Given the description of an element on the screen output the (x, y) to click on. 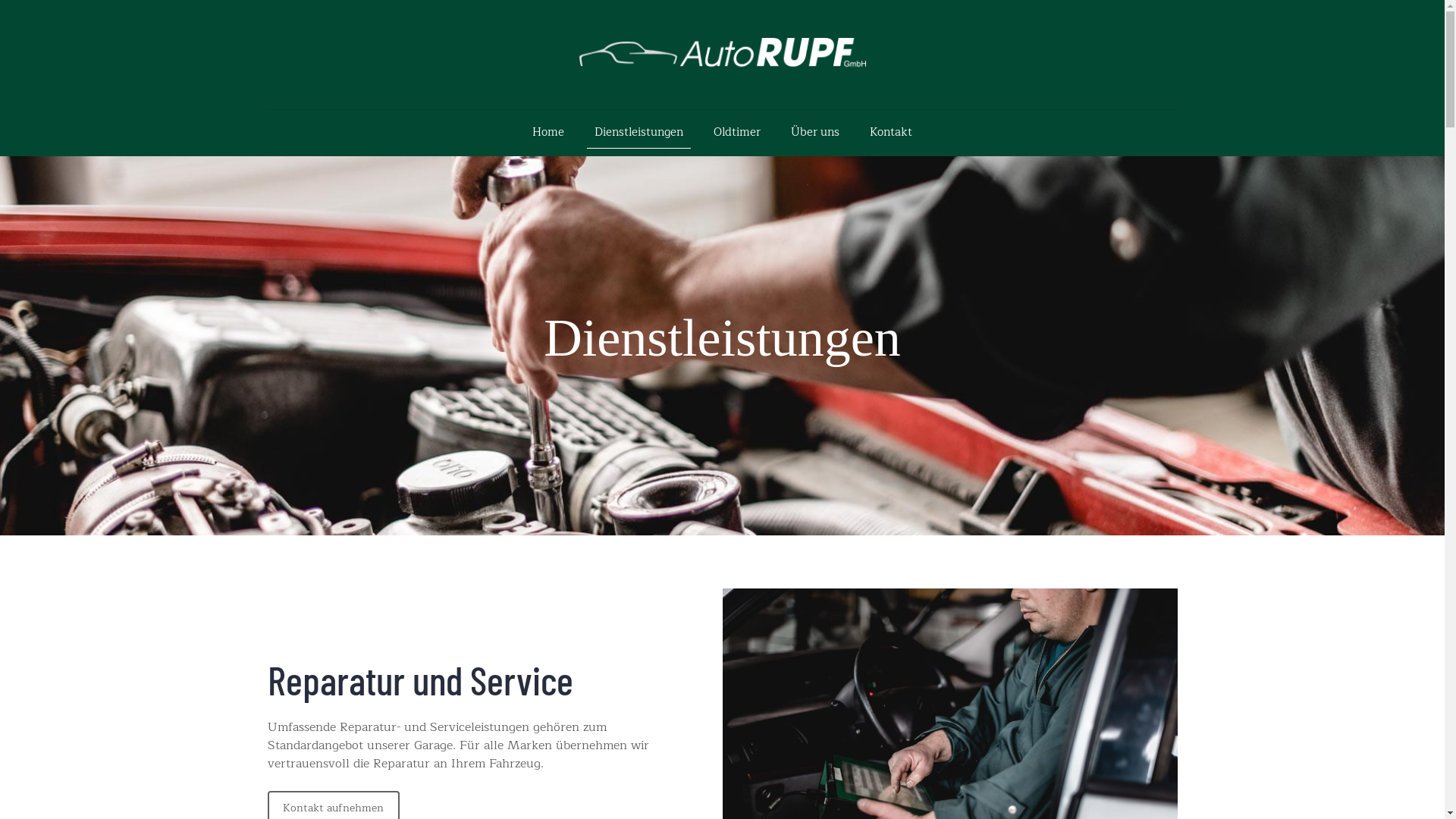
Home Element type: text (547, 128)
Oldtimer Element type: text (737, 128)
Dienstleistungen Element type: text (638, 128)
Kontakt Element type: text (890, 128)
